Given the description of an element on the screen output the (x, y) to click on. 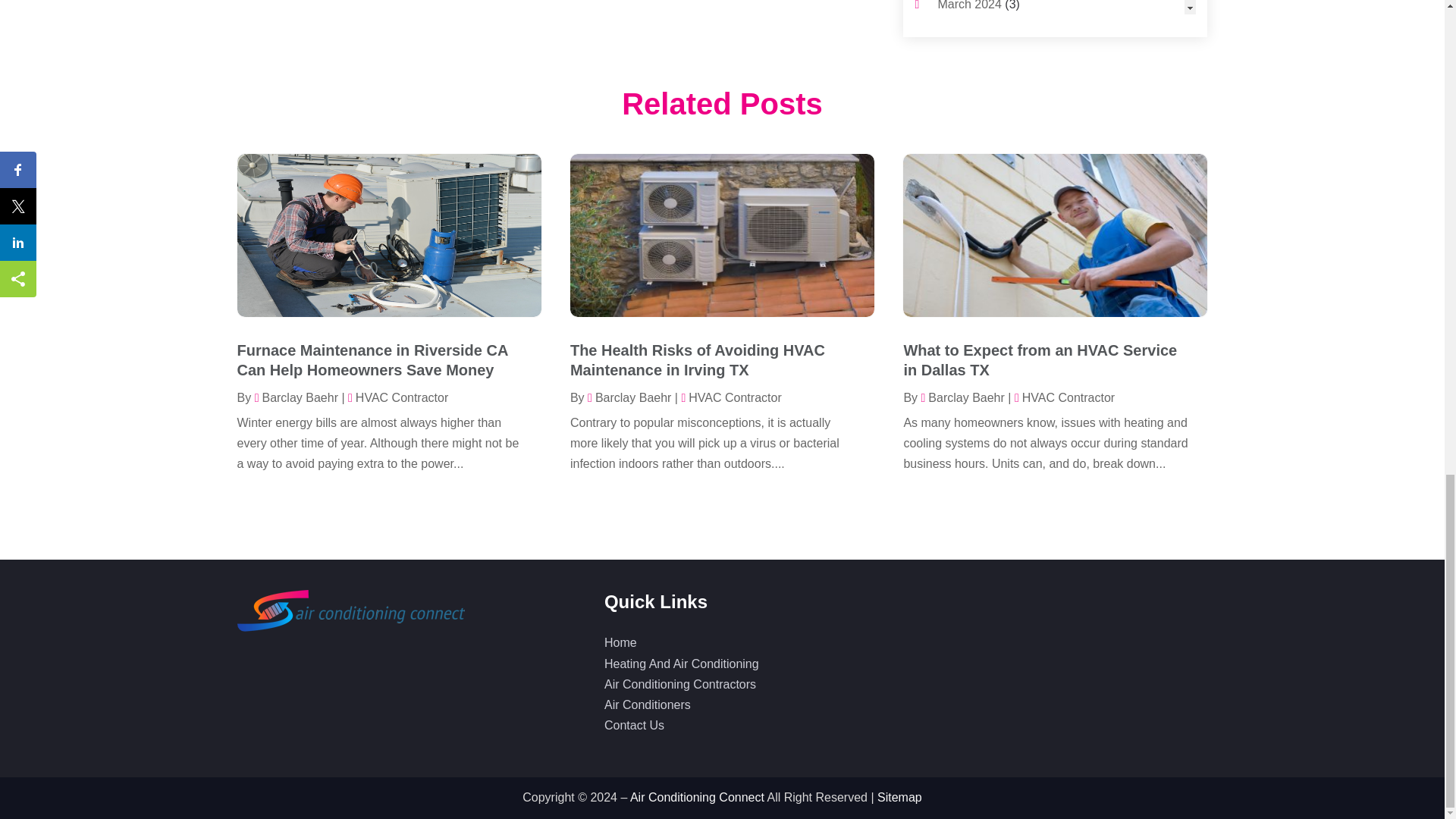
Posts by Barclay Baehr (629, 397)
Heating (957, 135)
Cooling Technology (989, 1)
Air Conditioning Connect - Footer Logo (349, 610)
Duct Cleaning Services (999, 23)
Posts by Barclay Baehr (295, 397)
Electrician (964, 51)
Heat Pump Repair (986, 107)
Posts by Barclay Baehr (962, 397)
Heat And Air (970, 79)
